Given the description of an element on the screen output the (x, y) to click on. 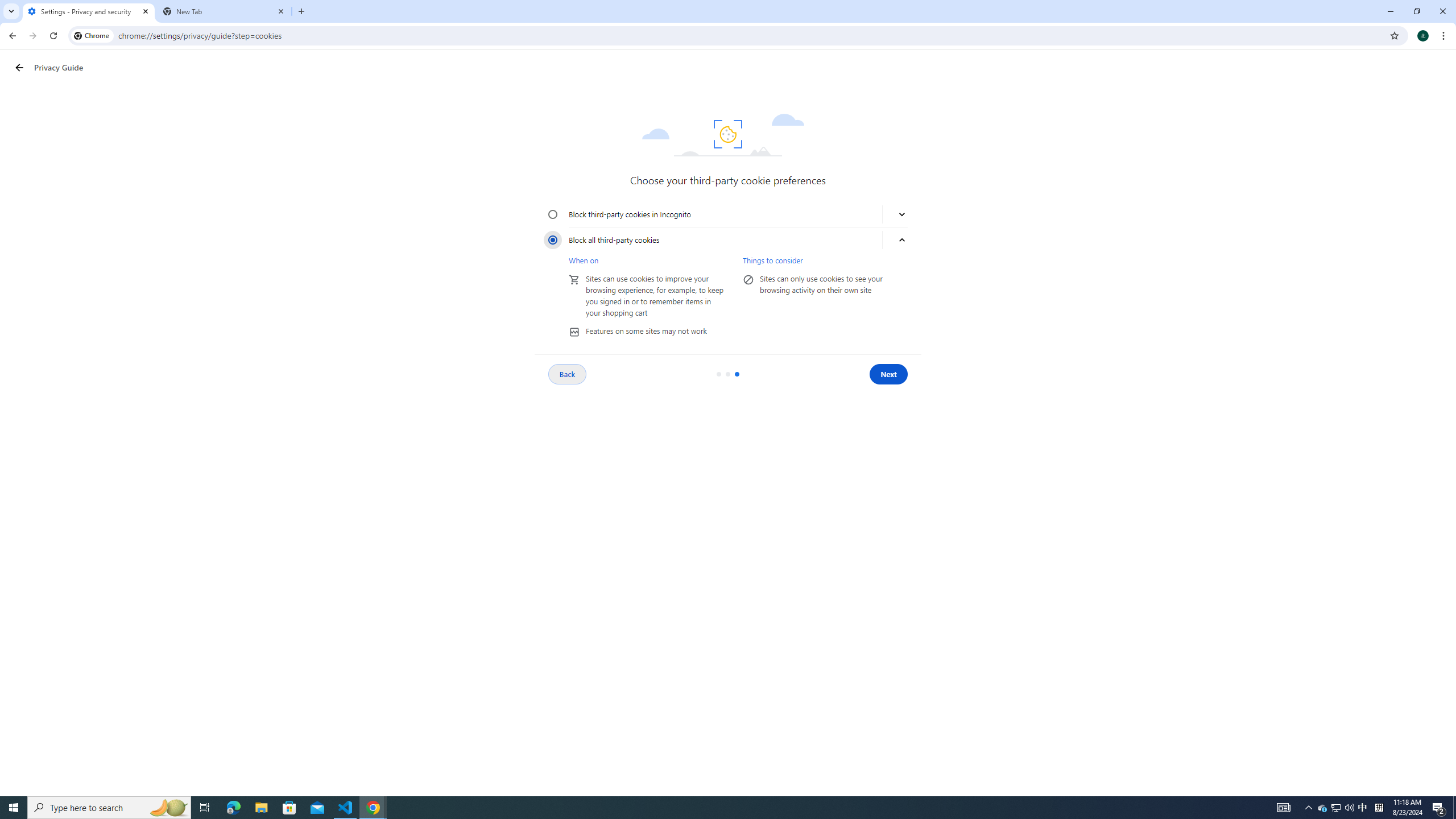
New Tab (224, 11)
More about blocking third-party cookies in Incognito mode (901, 214)
Privacy Guide back button (19, 67)
Next (888, 373)
Block all third-party cookies (552, 239)
